Given the description of an element on the screen output the (x, y) to click on. 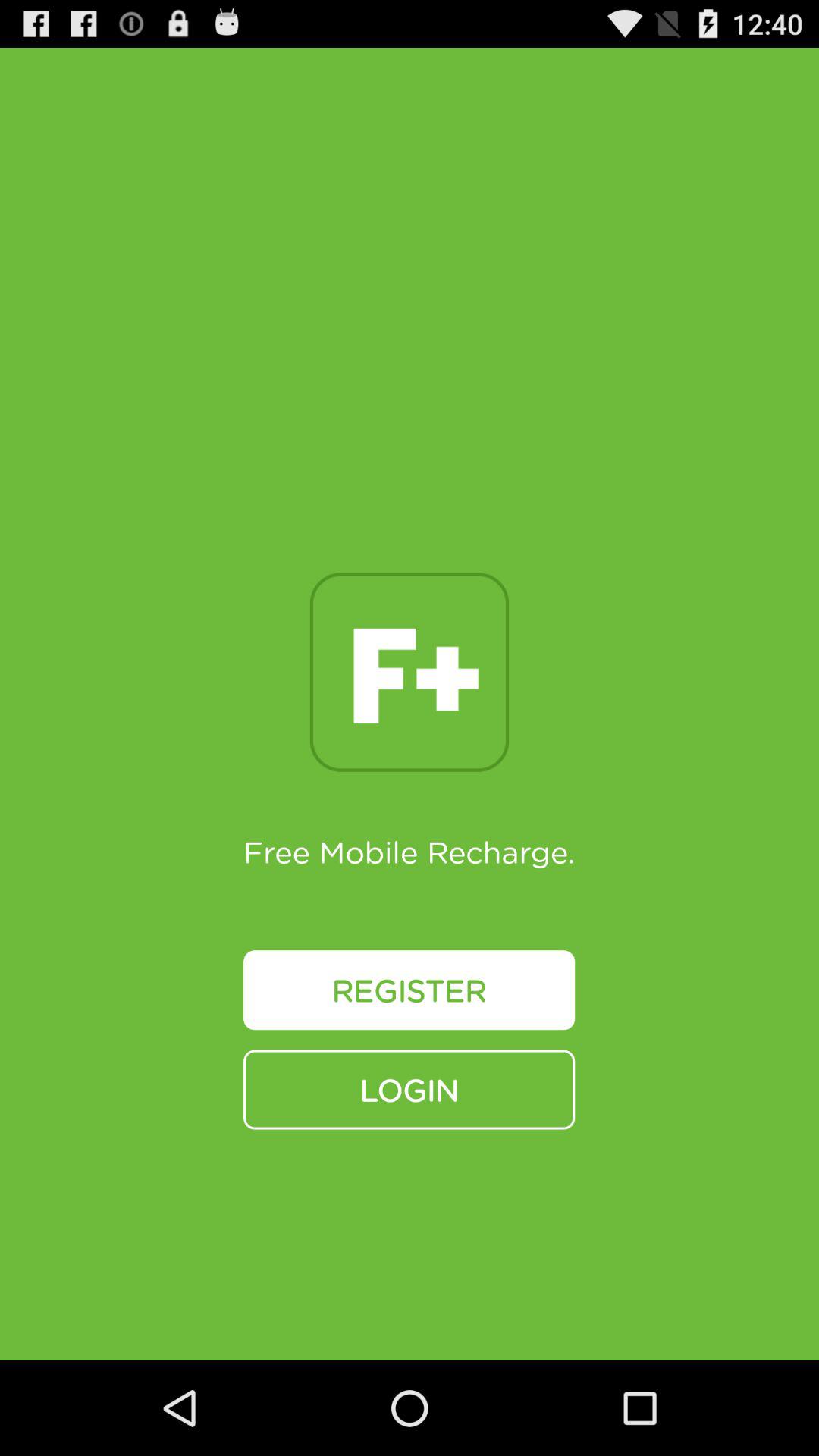
click item below the register item (409, 1089)
